Given the description of an element on the screen output the (x, y) to click on. 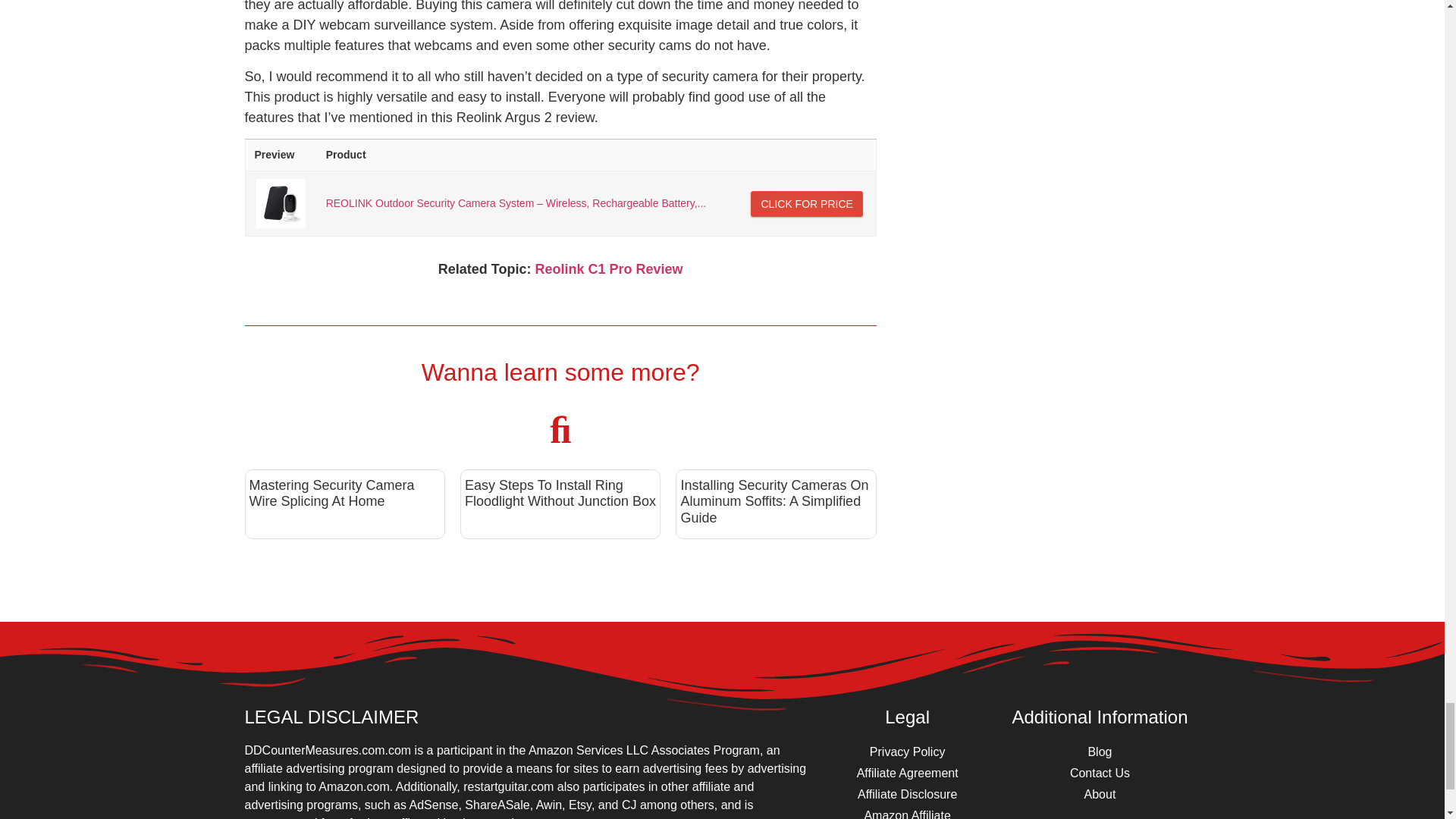
Affiliate Disclosure (907, 794)
Mastering Security Camera Wire Splicing At Home (330, 493)
Reolink C1 Pro Review (608, 268)
Affiliate Agreement (907, 772)
Easy Steps To Install Ring Floodlight Without Junction Box (560, 493)
CLICK FOR PRICE (806, 203)
Amazon Affiliate (907, 812)
Privacy Policy (907, 752)
